Given the description of an element on the screen output the (x, y) to click on. 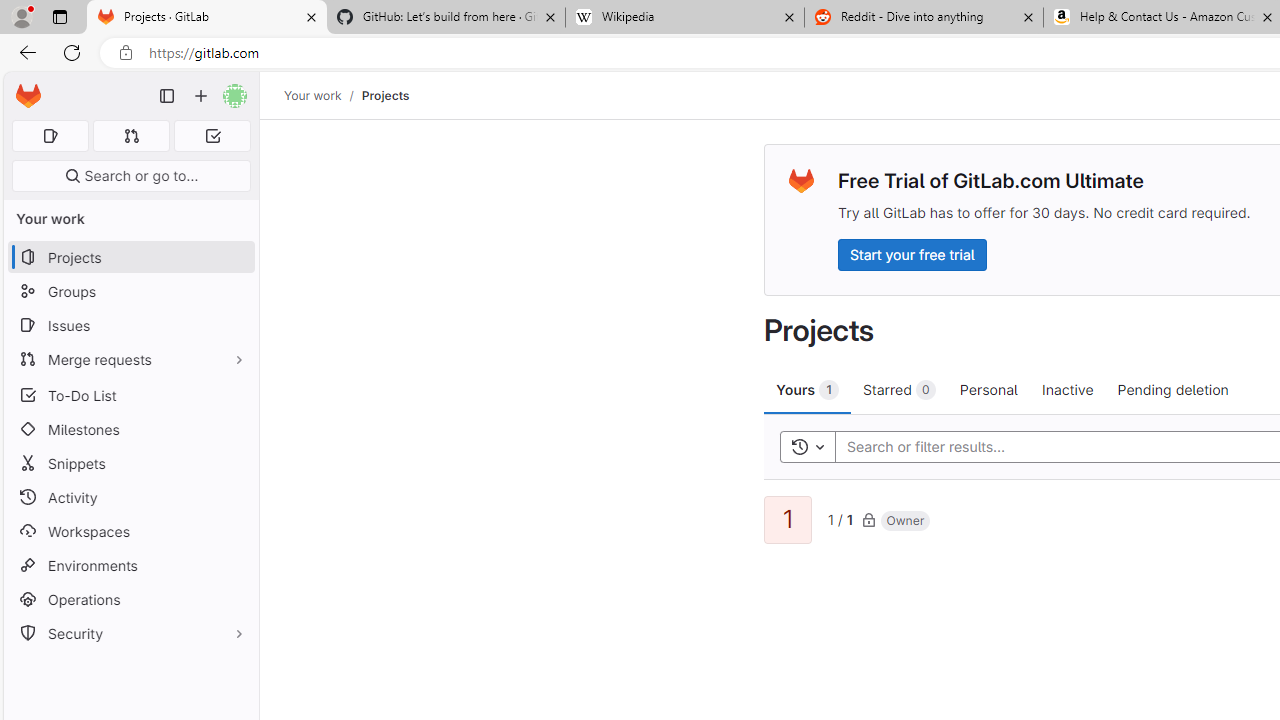
Activity (130, 497)
Issues (130, 325)
Class: s16 (868, 519)
Security (130, 633)
Snippets (130, 463)
Projects (384, 95)
To-Do List (130, 394)
Projects (384, 95)
Merge requests 0 (131, 136)
